Given the description of an element on the screen output the (x, y) to click on. 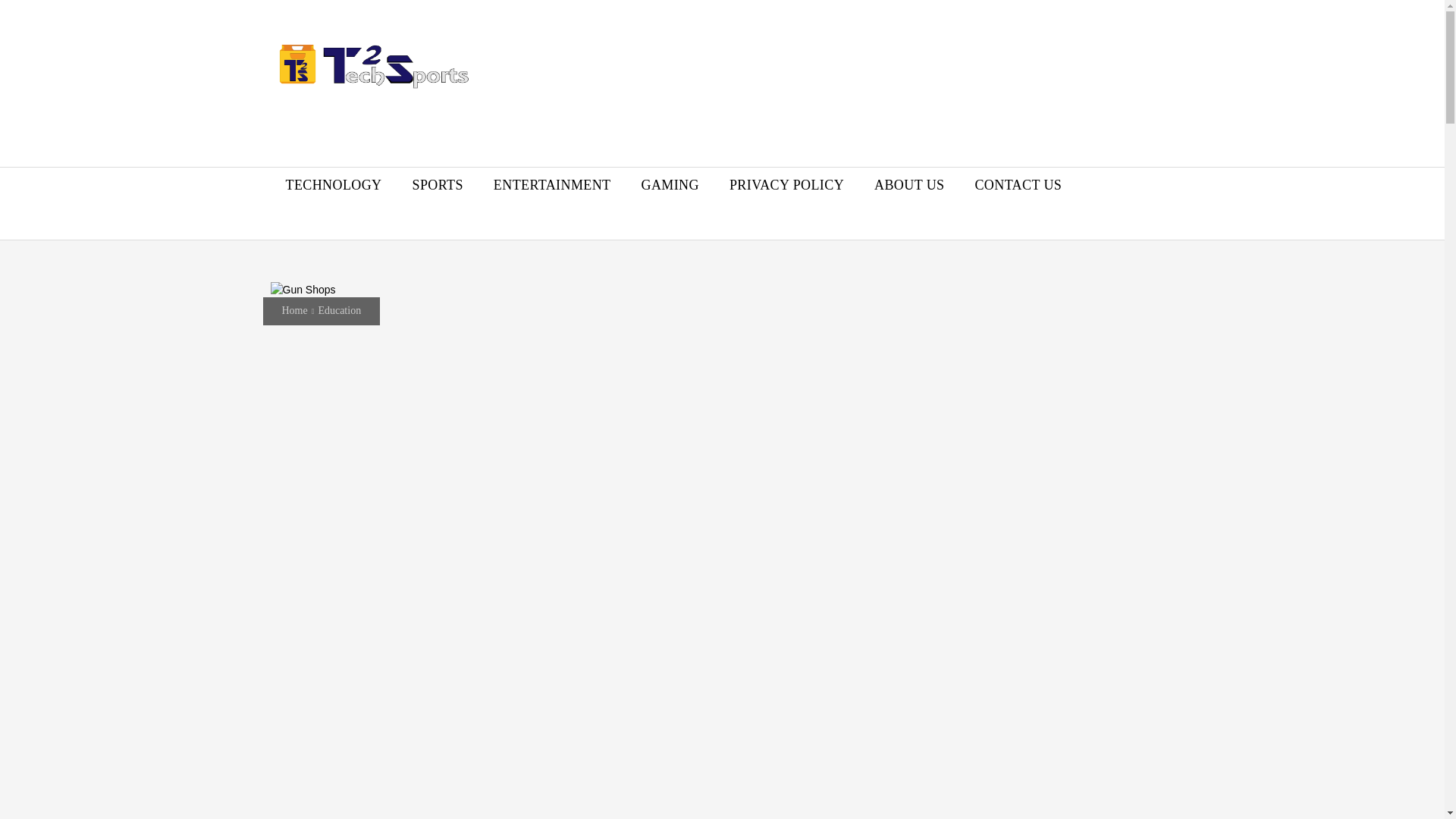
SPORTS (438, 185)
ENTERTAINMENT (552, 185)
TECHNOLOGY (332, 185)
